Given the description of an element on the screen output the (x, y) to click on. 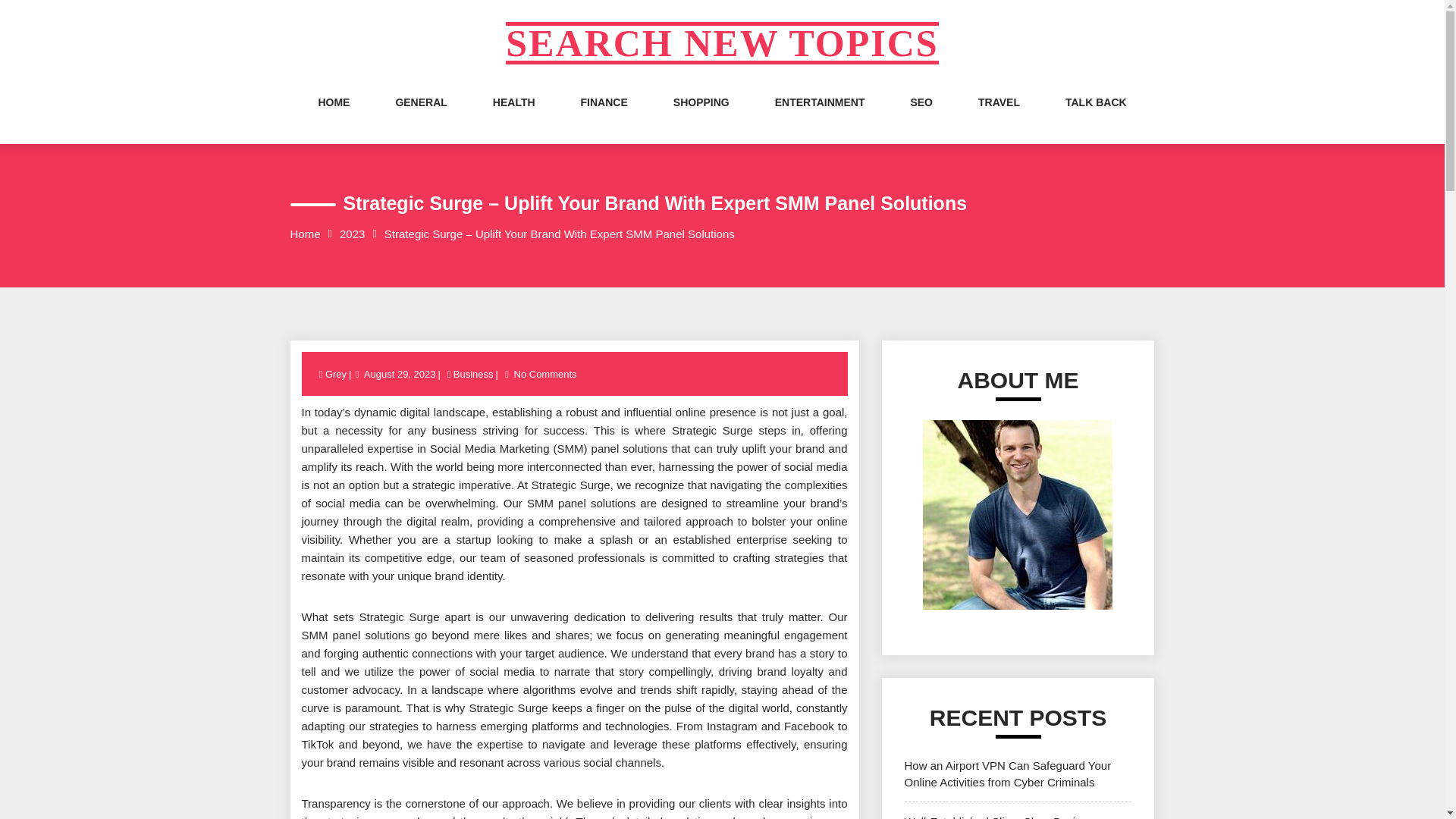
No Comments (545, 374)
FINANCE (603, 117)
Home (304, 233)
Business (473, 374)
August 29, 2023 (399, 374)
TRAVEL (999, 117)
TALK BACK (1095, 117)
GENERAL (420, 117)
ENTERTAINMENT (819, 117)
Well-Established Slime Shop Business Available for Sale (1001, 816)
Grey (336, 374)
2023 (352, 233)
SEARCH NEW TOPICS (721, 43)
HEALTH (514, 117)
